Given the description of an element on the screen output the (x, y) to click on. 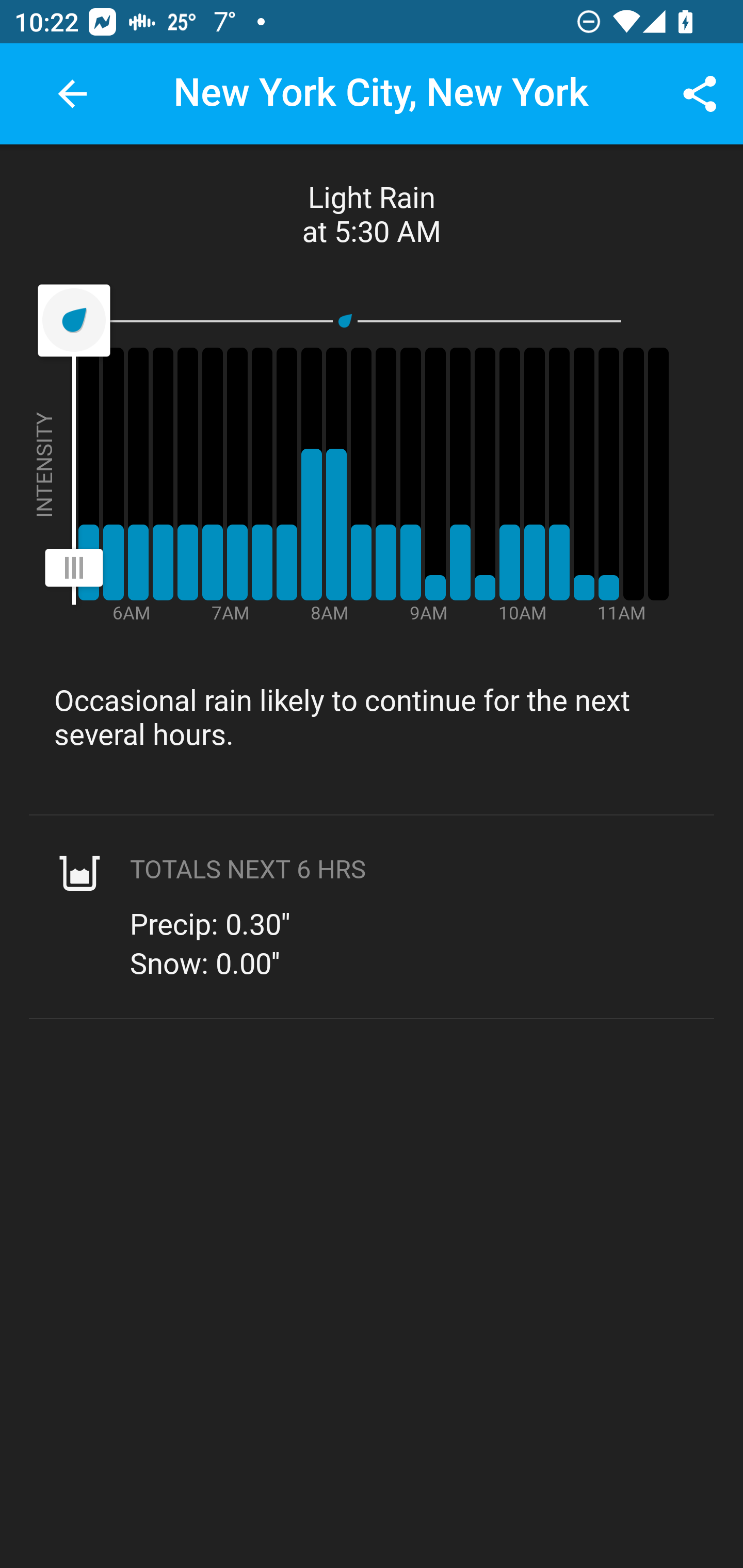
back (71, 93)
Share (699, 93)
